Given the description of an element on the screen output the (x, y) to click on. 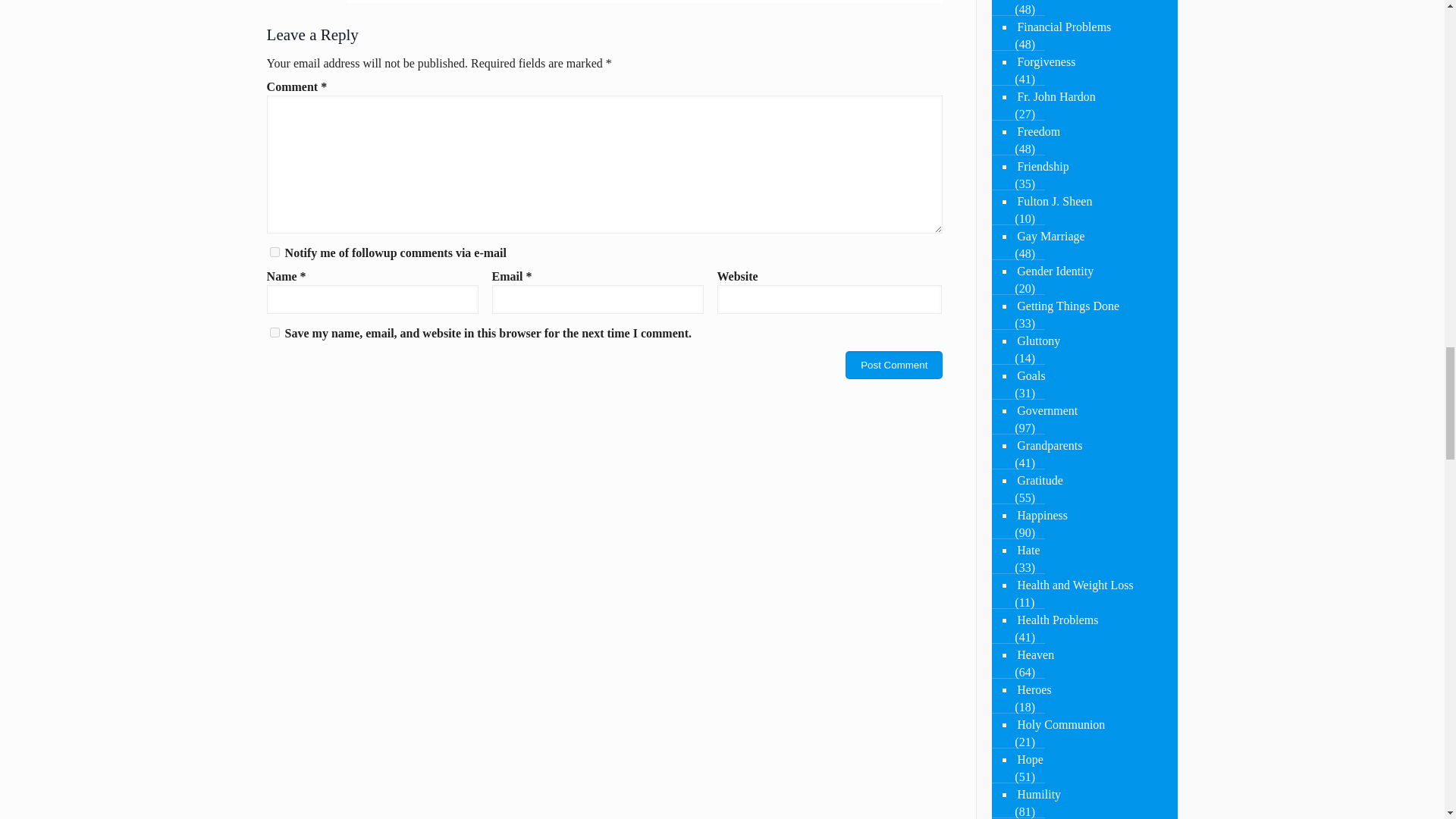
Post Comment (893, 365)
subscribe (274, 252)
yes (274, 332)
